Given the description of an element on the screen output the (x, y) to click on. 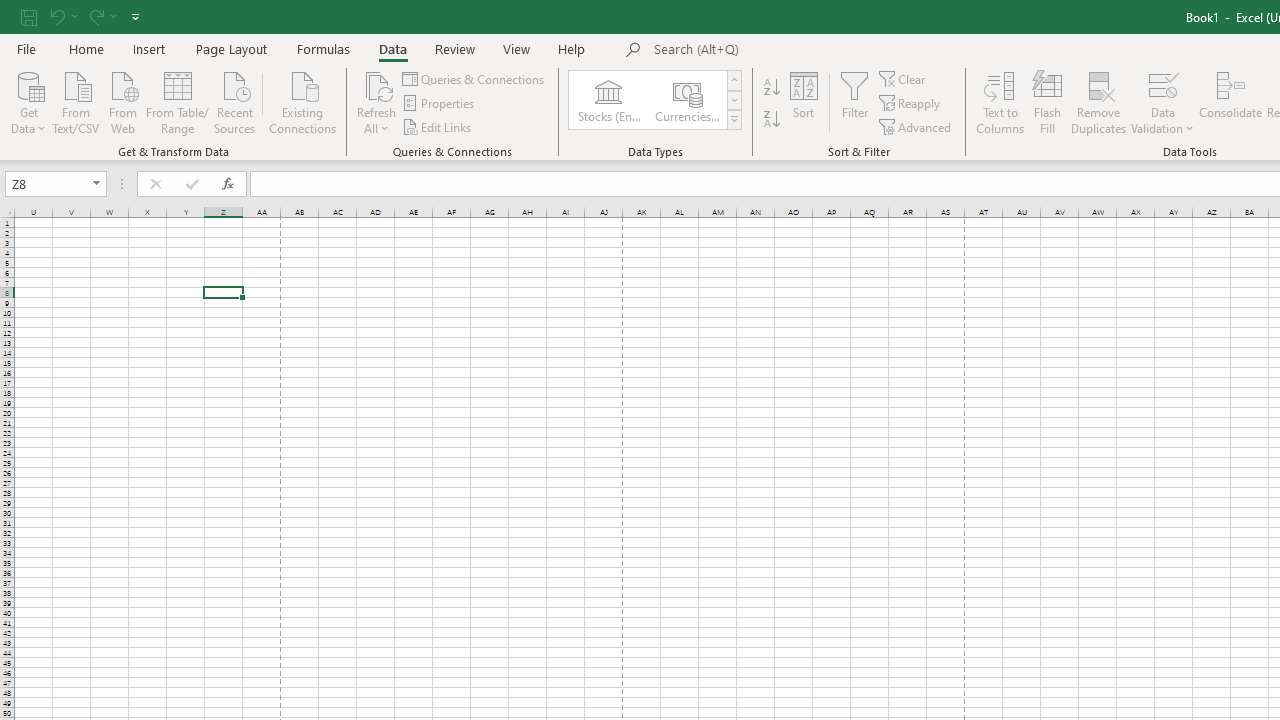
Consolidate... (1230, 102)
